Given the description of an element on the screen output the (x, y) to click on. 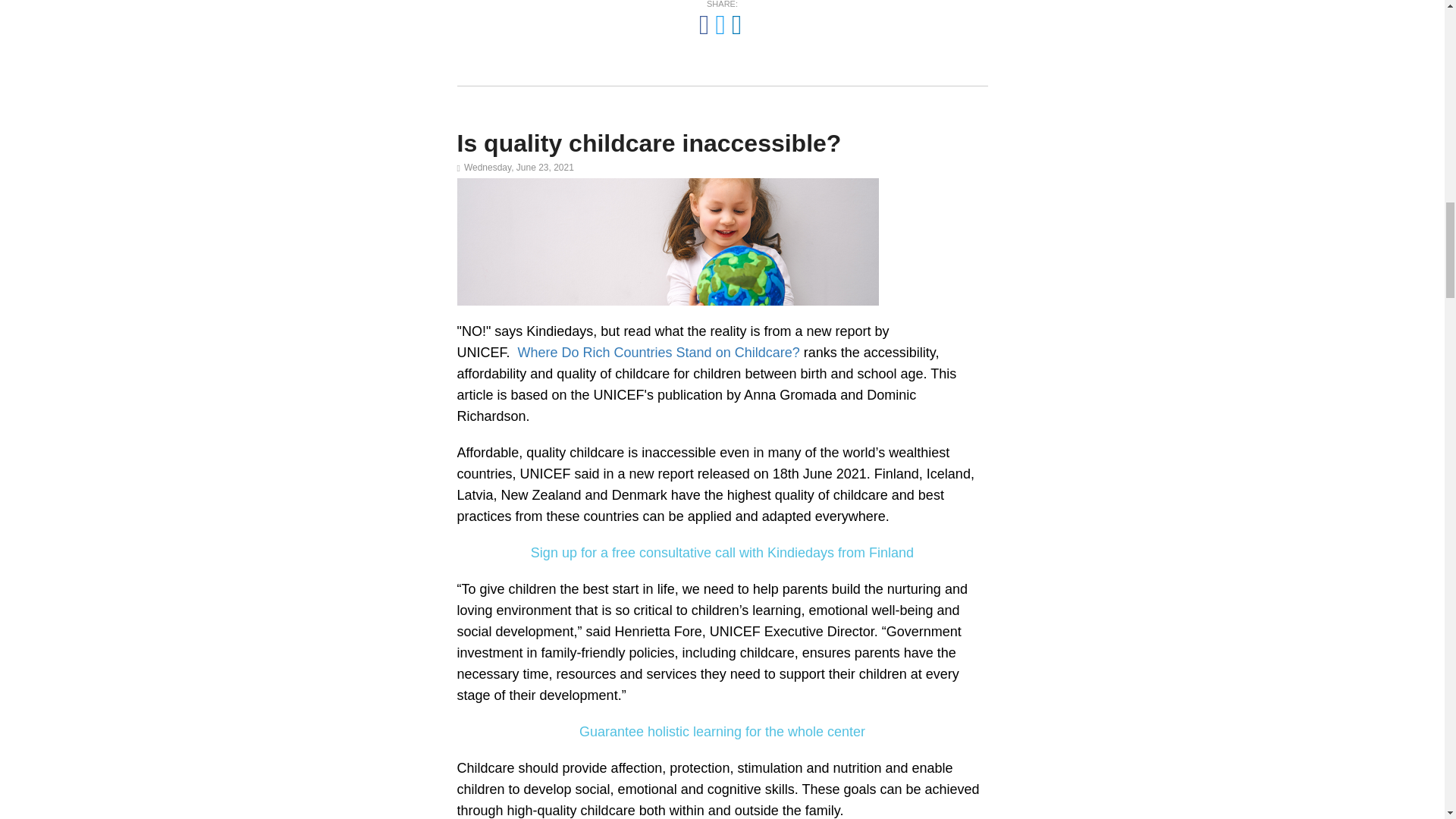
Is quality childcare inaccessible? (649, 143)
Guarantee holistic learning for the whole center (721, 731)
Where Do Rich Countries Stand on Childcare? (658, 352)
